Given the description of an element on the screen output the (x, y) to click on. 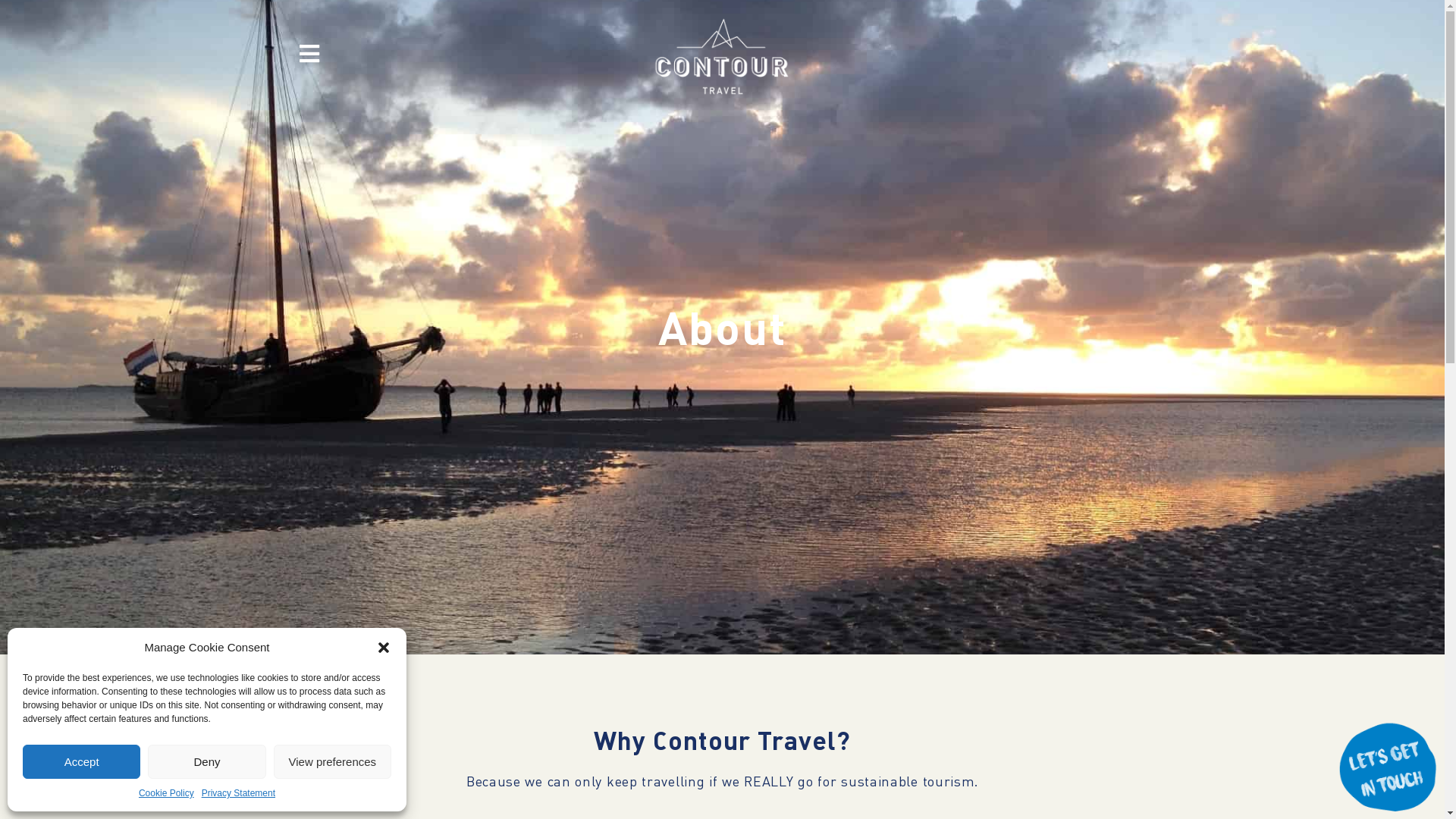
Accept Element type: text (81, 761)
View preferences Element type: text (332, 761)
Privacy Statement Element type: text (238, 793)
Cookie Policy Element type: text (166, 793)
Deny Element type: text (206, 761)
